Given the description of an element on the screen output the (x, y) to click on. 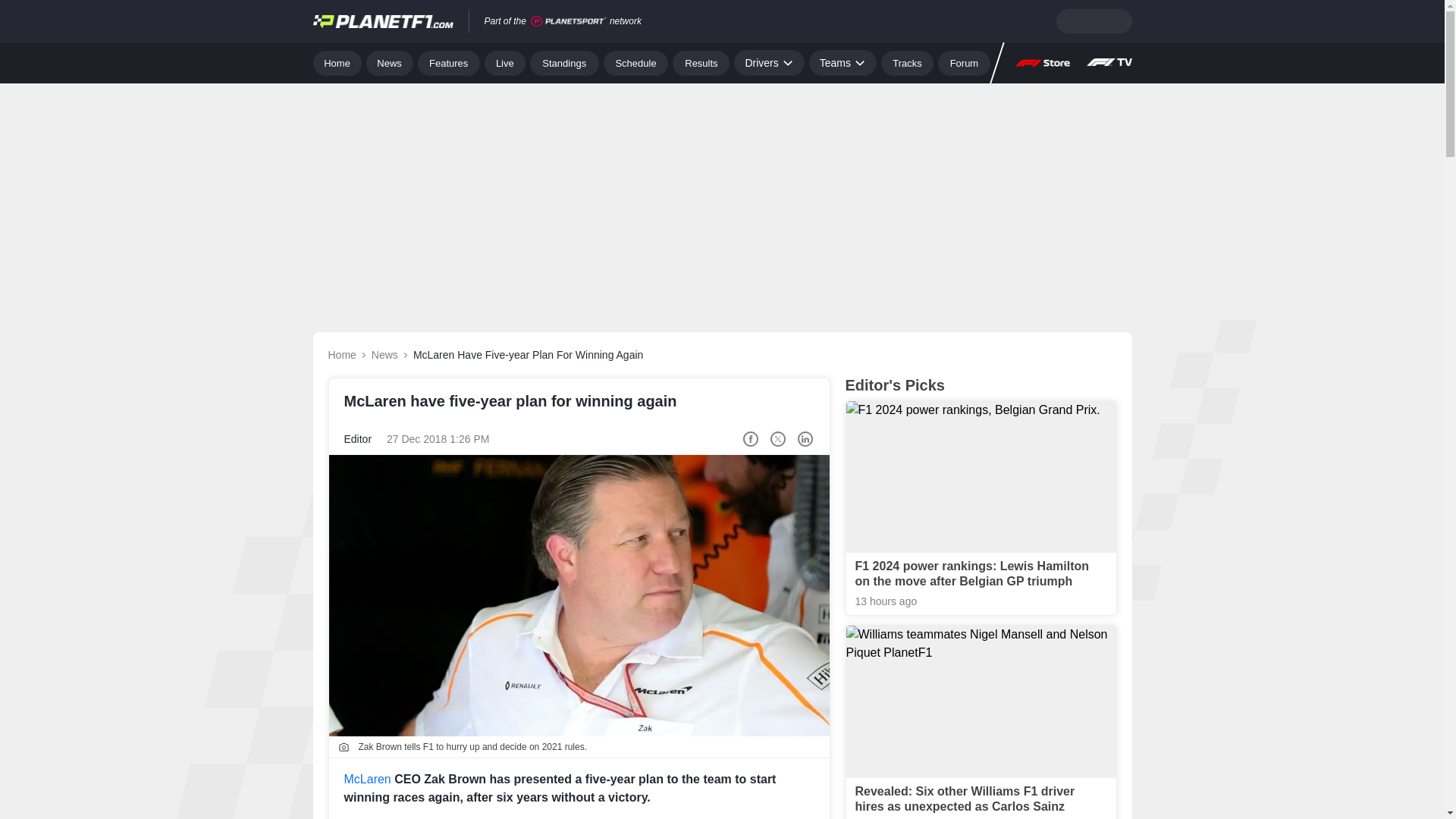
Schedule (636, 62)
Home (337, 62)
News (389, 62)
Drivers (768, 62)
Standings (563, 62)
Live (504, 62)
Features (448, 62)
Results (700, 62)
Teams (842, 62)
